Given the description of an element on the screen output the (x, y) to click on. 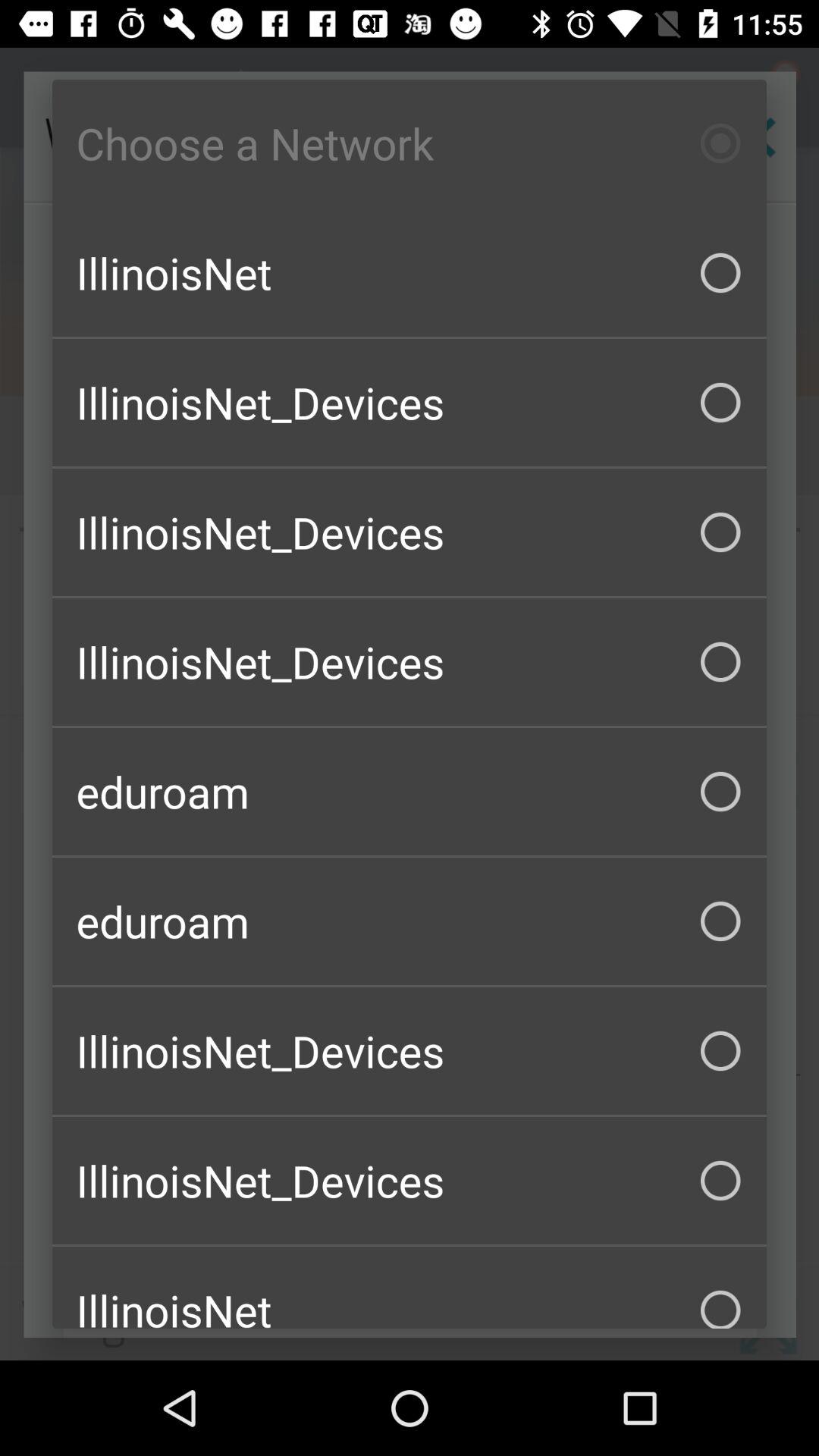
select item above illinoisnet checkbox (409, 143)
